Given the description of an element on the screen output the (x, y) to click on. 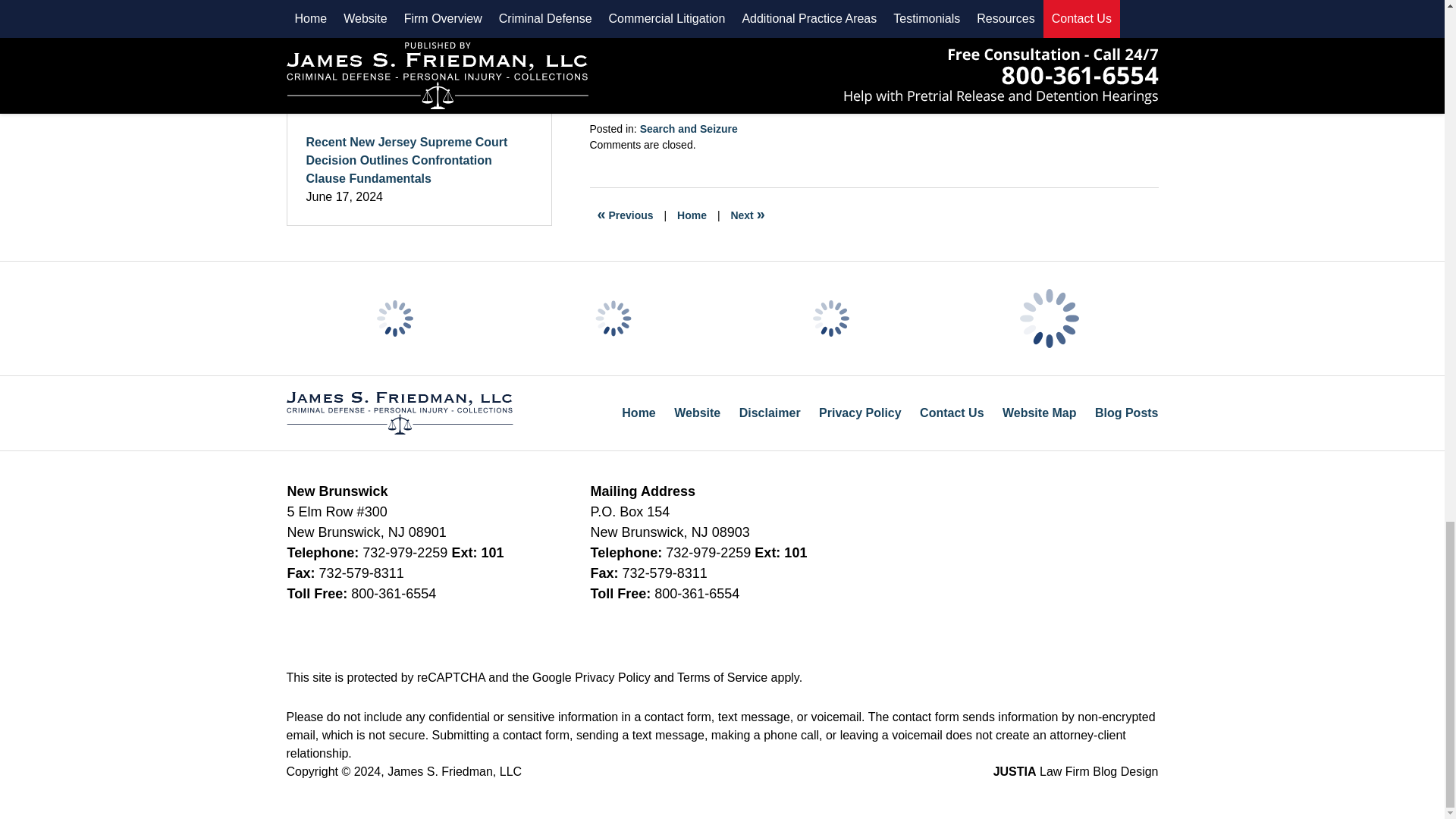
View all posts in Search and Seizure (689, 128)
Home (691, 215)
Search and Seizure (689, 128)
